Given the description of an element on the screen output the (x, y) to click on. 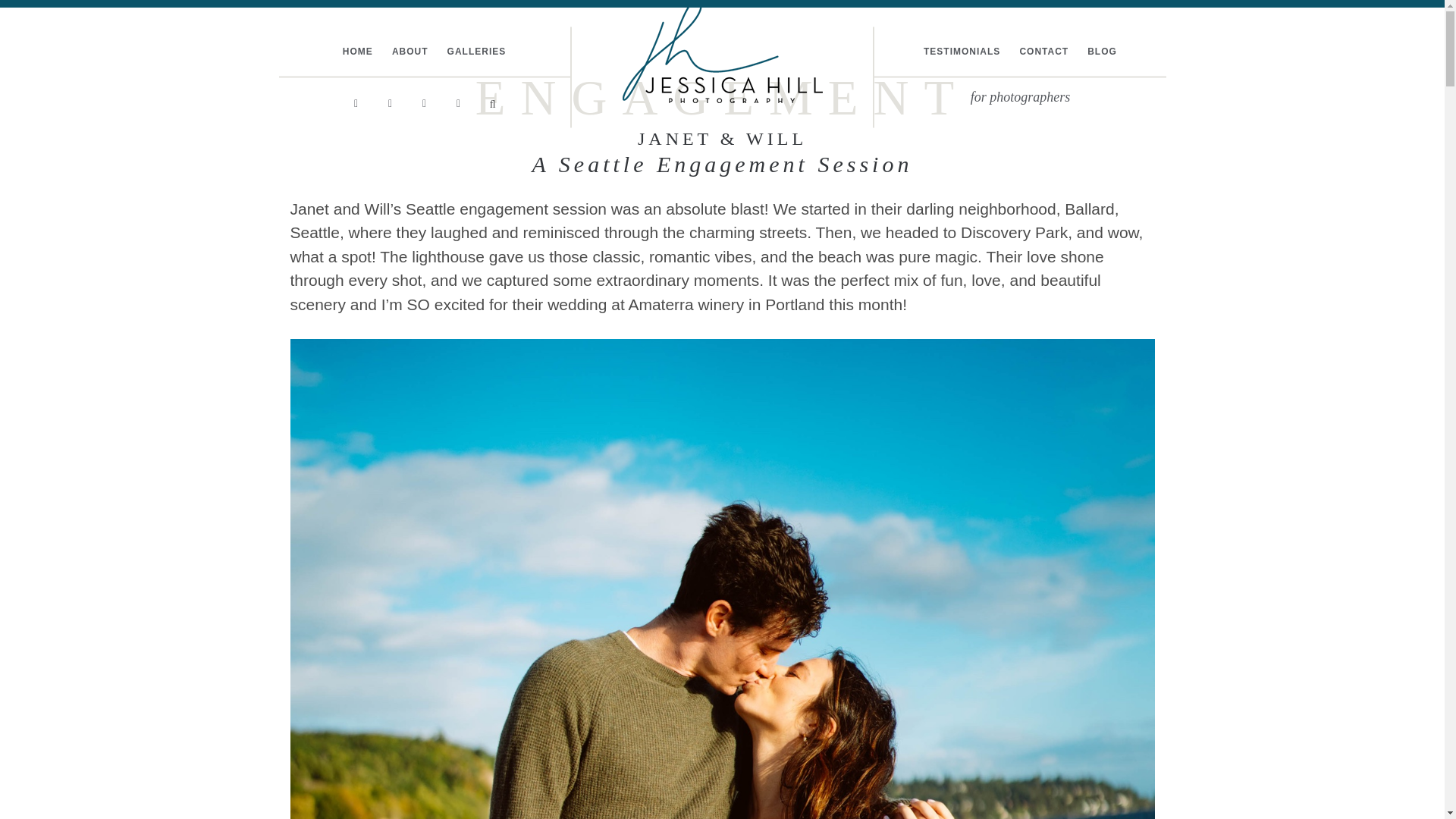
GALLERIES (476, 51)
TESTIMONIALS (961, 51)
for photographers (1020, 96)
ABOUT (409, 51)
CONTACT (1043, 51)
HOME (357, 51)
BLOG (1101, 51)
